Given the description of an element on the screen output the (x, y) to click on. 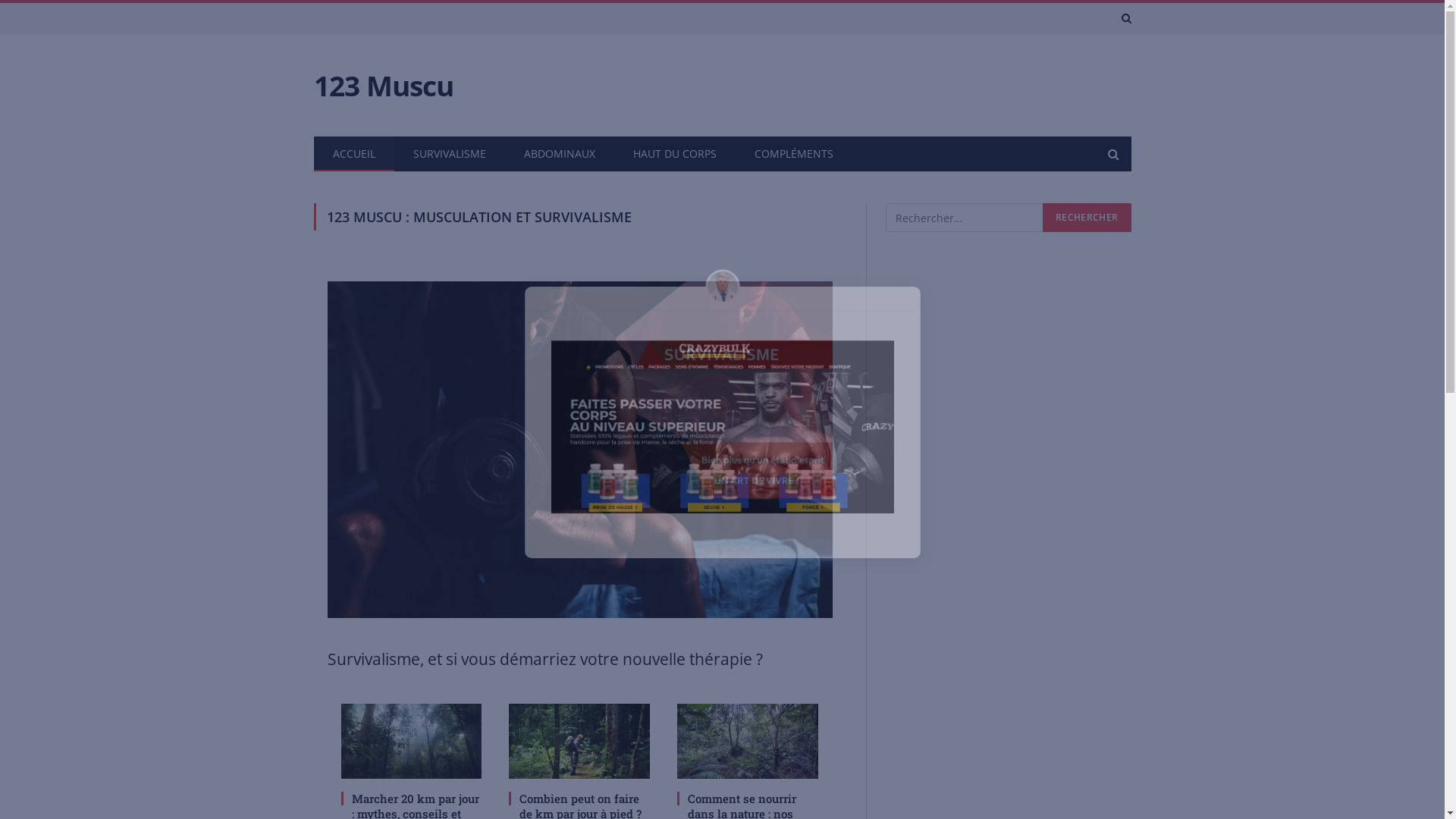
ACCUEIL Element type: text (353, 153)
Rechercher Element type: text (1086, 217)
123 Muscu Element type: text (383, 85)
ABDOMINAUX Element type: text (559, 153)
HAUT DU CORPS Element type: text (674, 153)
Search Element type: hover (1111, 153)
SURVIVALISME Element type: text (449, 153)
Search Element type: hover (1124, 18)
